Given the description of an element on the screen output the (x, y) to click on. 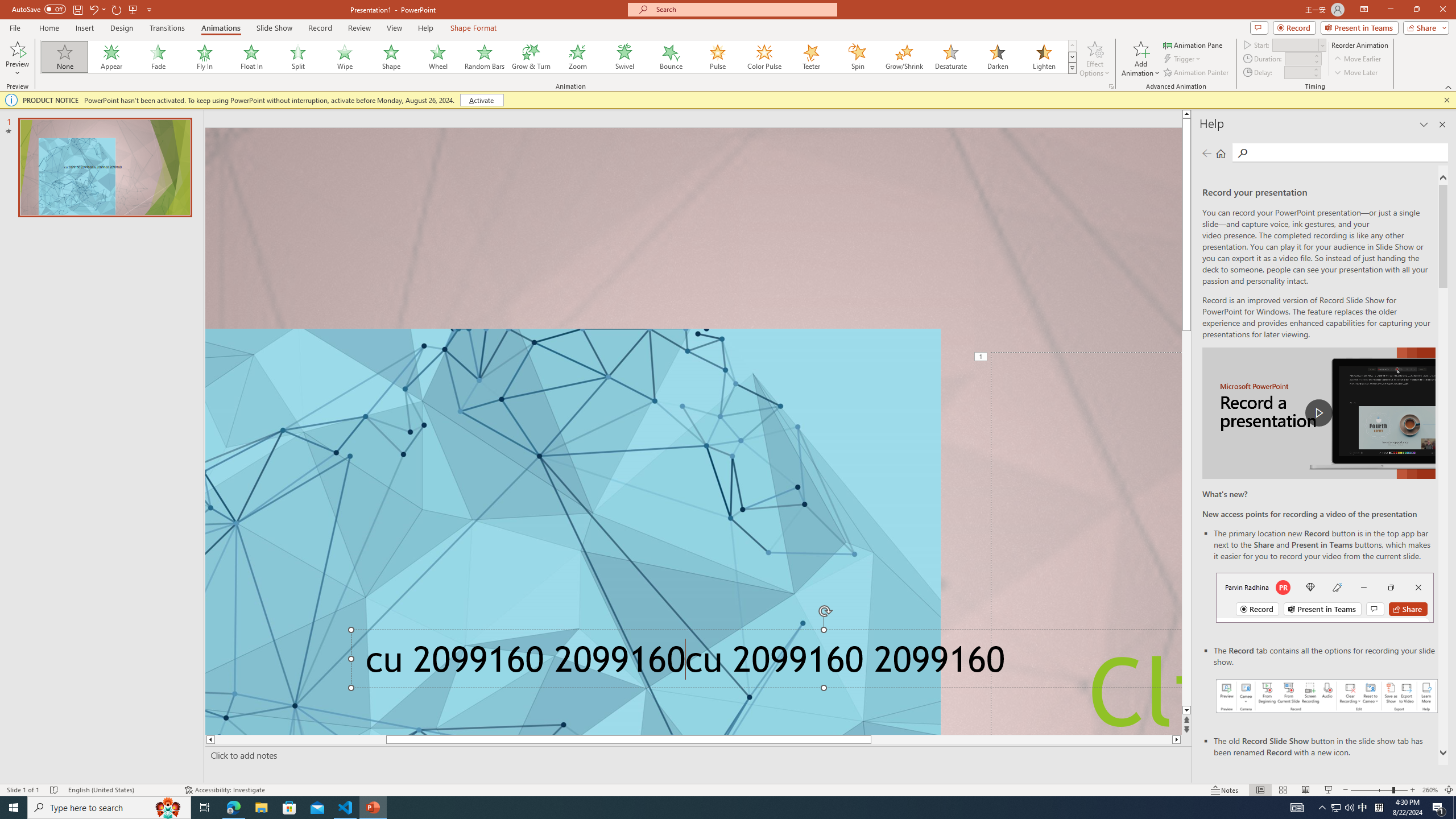
Animation Pane (1193, 44)
Animation Delay (1297, 72)
Record your presentations screenshot one (1326, 695)
Spin (857, 56)
Record button in top bar (1324, 597)
